Given the description of an element on the screen output the (x, y) to click on. 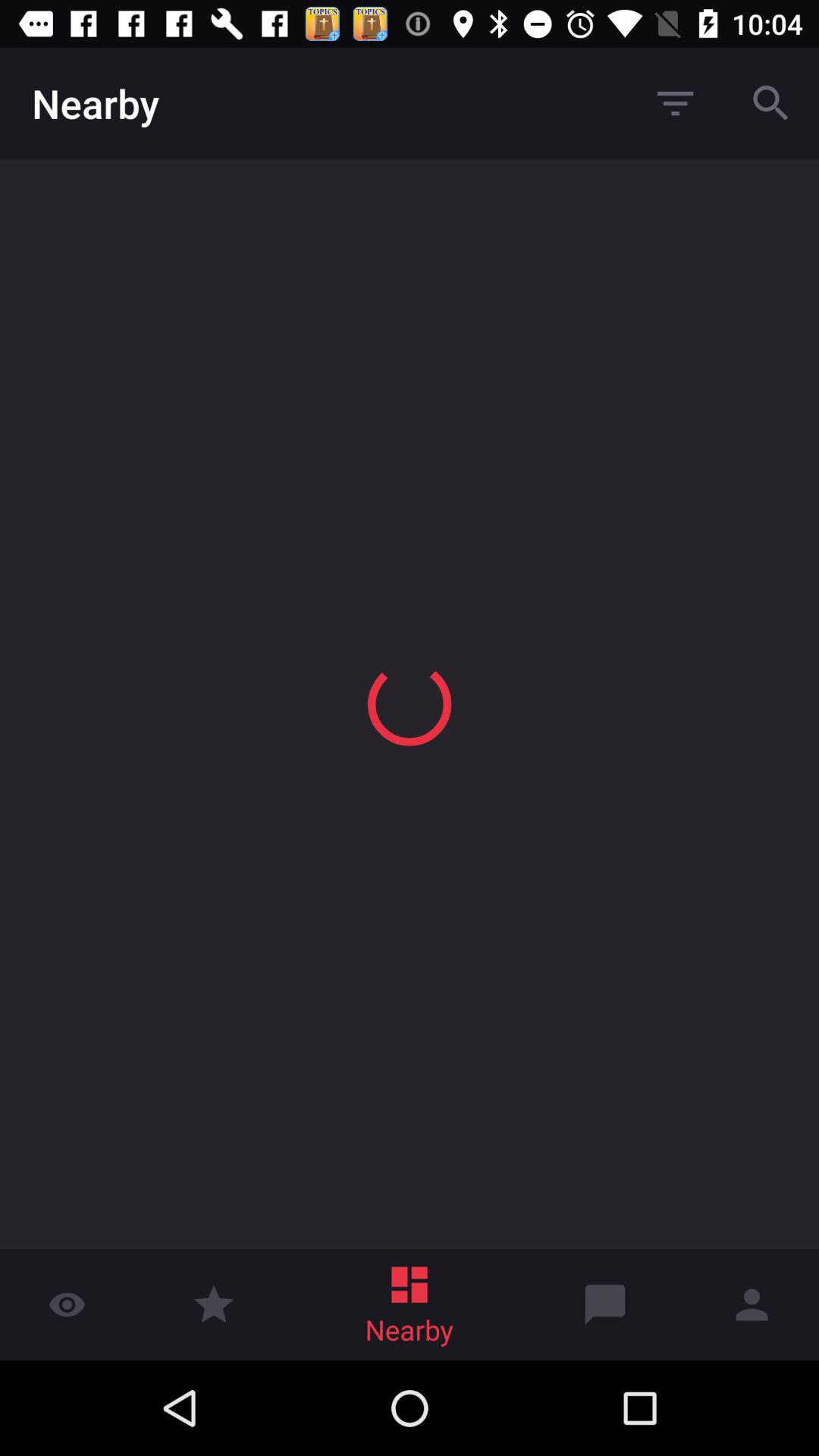
click on the eye symbol (66, 1289)
click on the search icon (771, 103)
click on icon beside nearby at the bottom of the page (604, 1304)
click on the first button next to nearby at top of the page (675, 103)
